Given the description of an element on the screen output the (x, y) to click on. 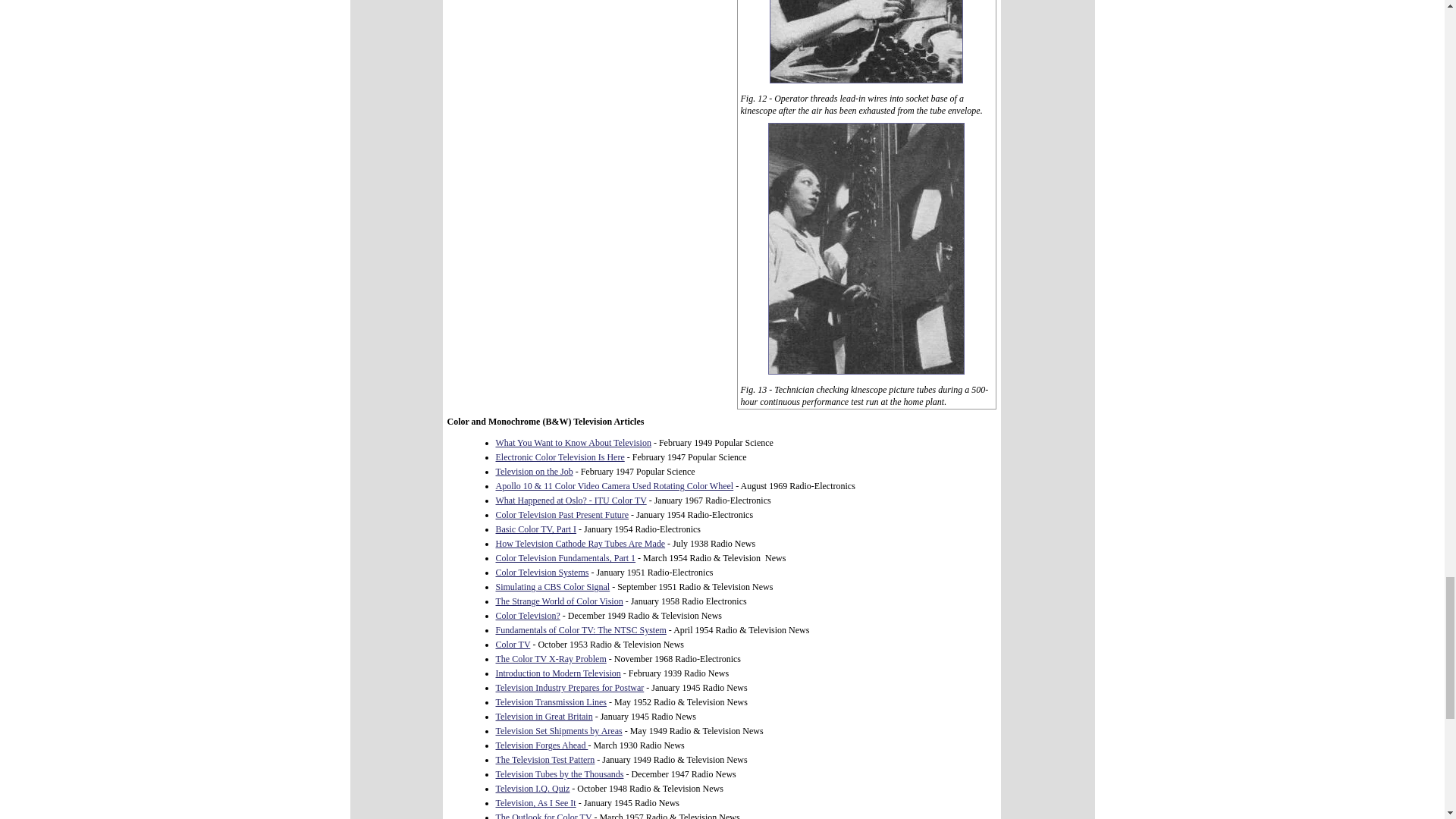
Electronic Color Television Is Here (560, 457)
Color Television Fundamentals, Part 1 (566, 557)
How Television Cathode Ray Tubes Are Made (580, 543)
What You Want to Know About Television (573, 442)
Basic Color TV, Part I (536, 529)
Color Television Systems (542, 572)
Television on the Job (534, 471)
What Happened at Oslo? - ITU Color TV (571, 500)
Color Television Past Present Future (562, 514)
